Given the description of an element on the screen output the (x, y) to click on. 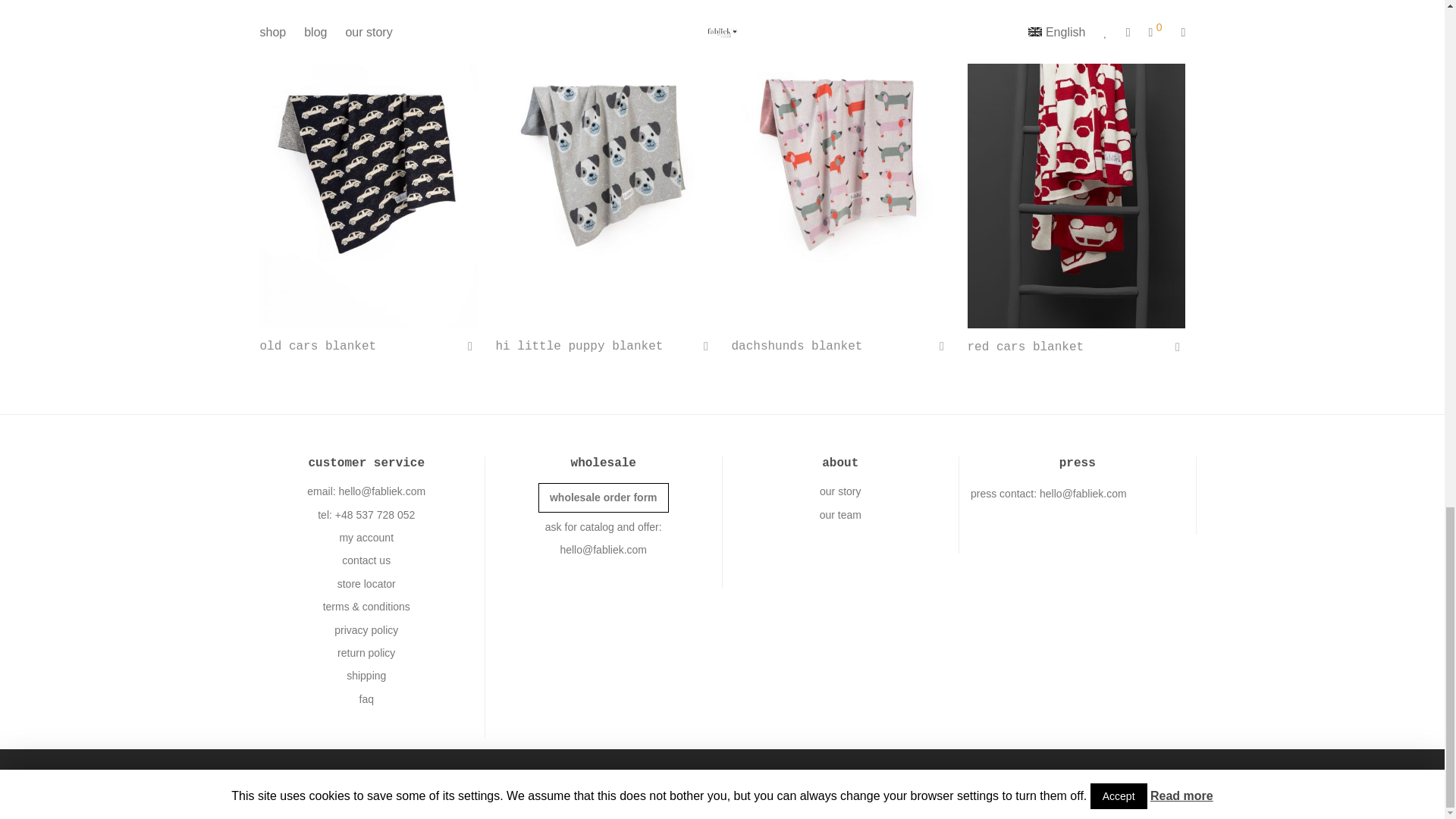
Add to Wishlist (705, 345)
Add to Wishlist (470, 345)
Add to Wishlist (941, 345)
Add to Wishlist (1177, 346)
